Given the description of an element on the screen output the (x, y) to click on. 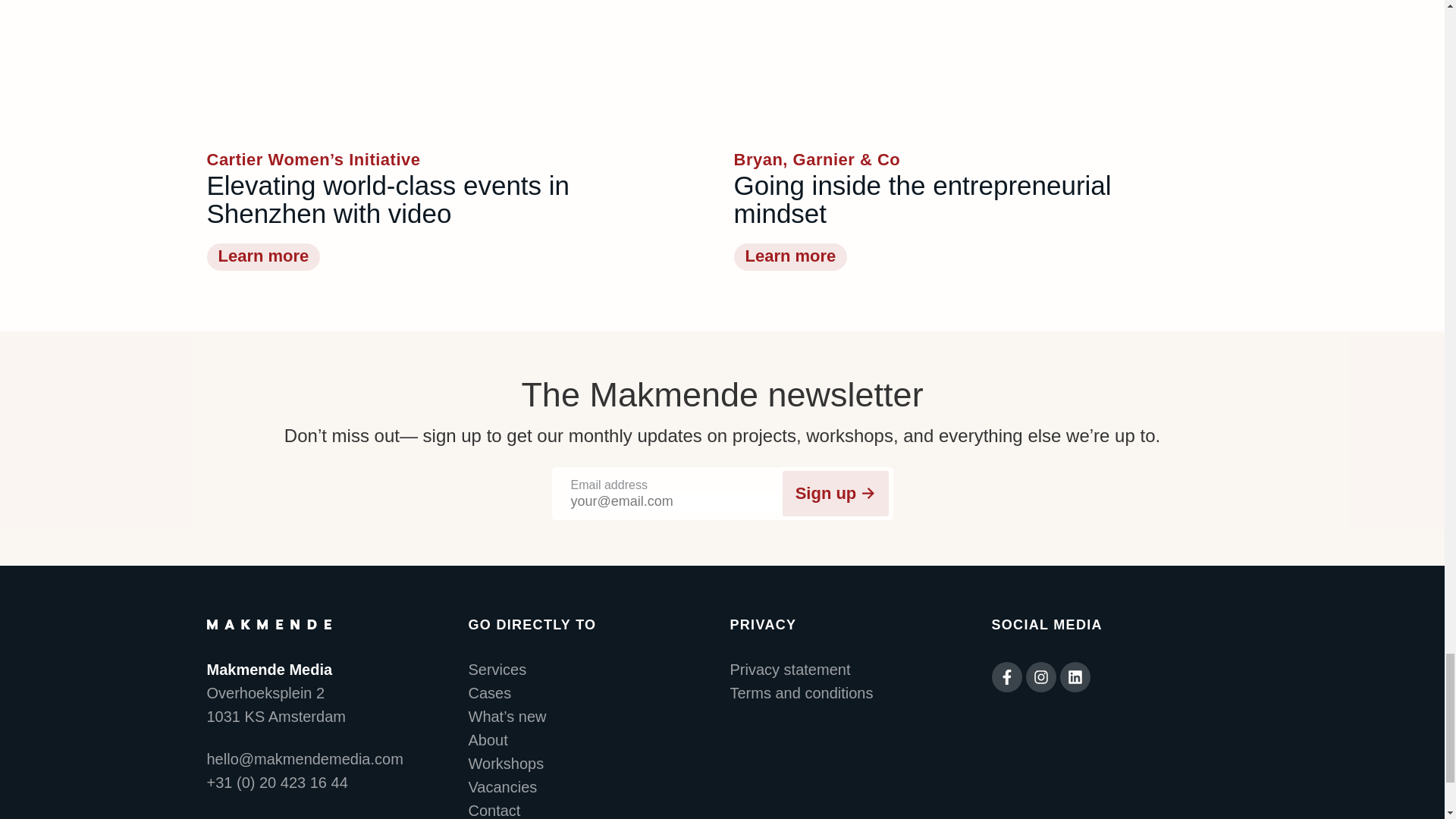
Sign up (835, 492)
Services (591, 669)
Workshops (591, 763)
Contact (591, 811)
Vacancies (591, 787)
About (591, 740)
Cases (591, 693)
